Given the description of an element on the screen output the (x, y) to click on. 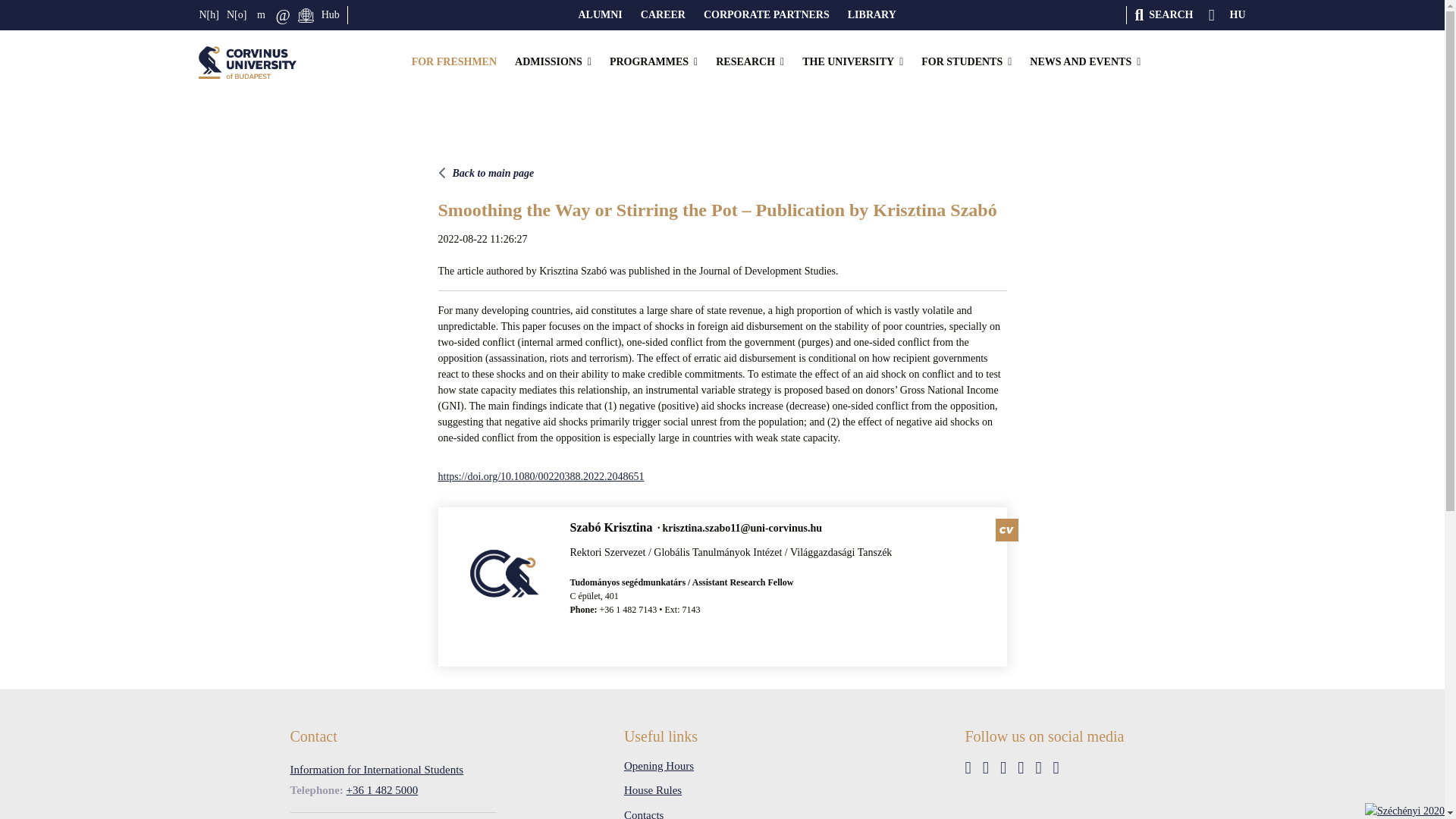
MyCorvinus Hub (330, 14)
CORPORATE PARTNERS (766, 14)
CAREER (662, 14)
LIBRARY (871, 14)
Hub (330, 14)
PROGRAMMES (653, 62)
ALUMNI (599, 14)
FOR FRESHMEN (453, 62)
SEARCH (1163, 14)
Teacher NEPTUN (236, 14)
